Given the description of an element on the screen output the (x, y) to click on. 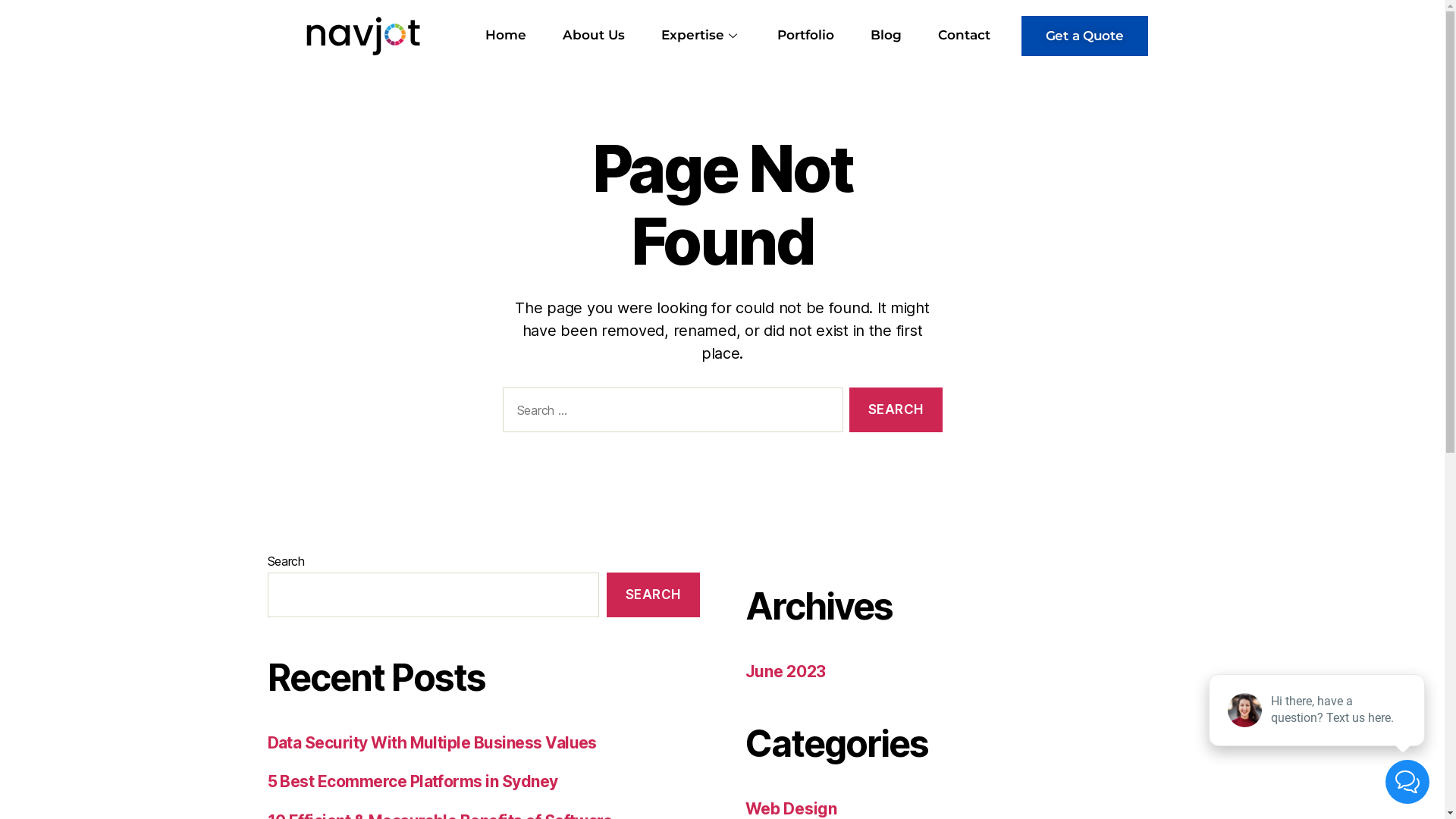
Data Security With Multiple Business Values Element type: text (431, 742)
5 Best Ecommerce Platforms in Sydney Element type: text (411, 780)
Expertise Element type: text (701, 35)
About Us Element type: text (593, 35)
Portfolio Element type: text (805, 35)
June 2023 Element type: text (784, 671)
Get a Quote Element type: text (1084, 35)
Blog Element type: text (885, 35)
Web Design Element type: text (790, 808)
Contact Element type: text (963, 35)
SEARCH Element type: text (652, 594)
Home Element type: text (505, 35)
Search Element type: text (895, 409)
